Given the description of an element on the screen output the (x, y) to click on. 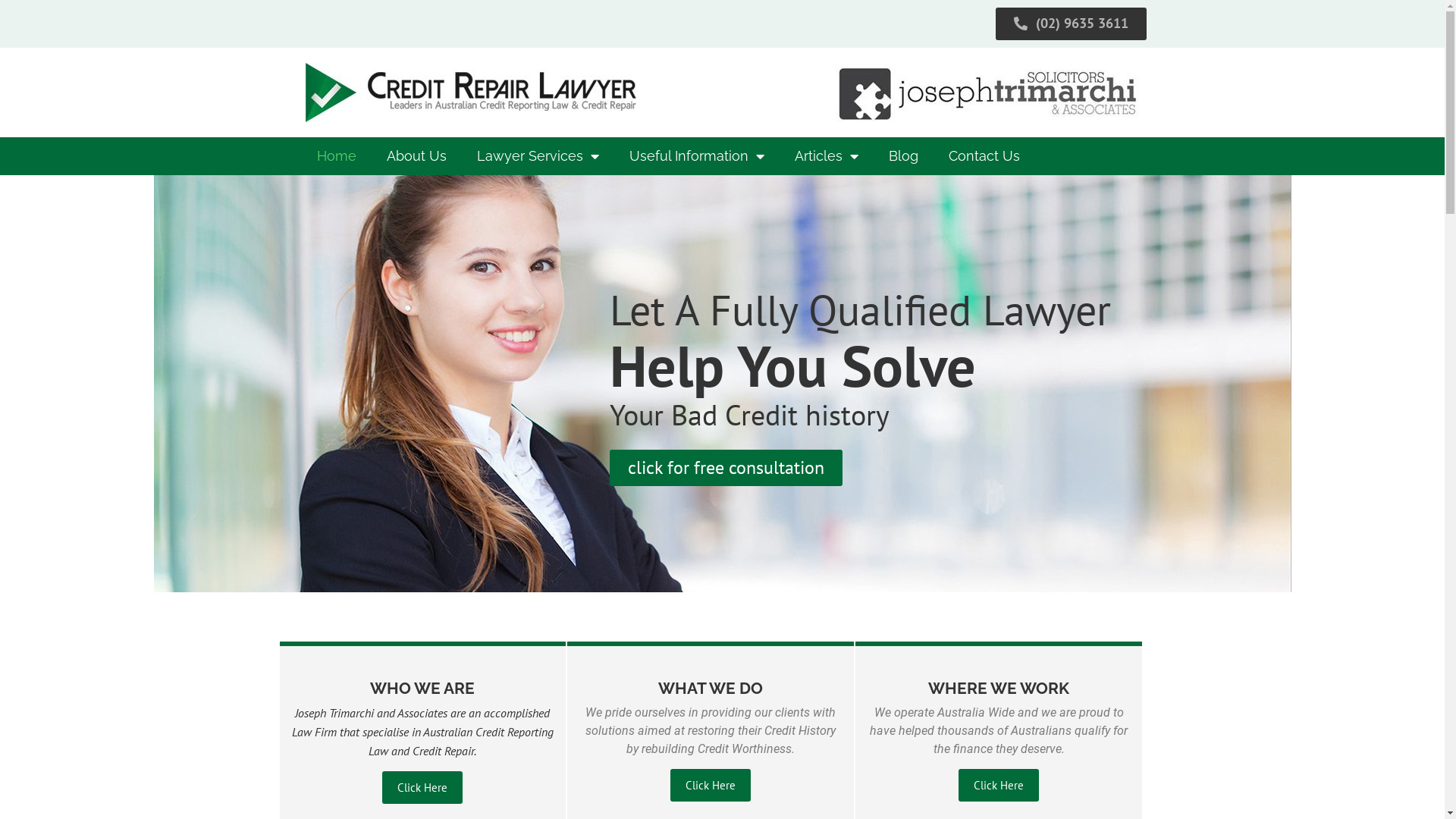
click for free consultation Element type: text (725, 466)
Articles Element type: text (826, 155)
(02) 9635 3611 Element type: text (1070, 23)
Useful Information Element type: text (696, 155)
Lawyer Services Element type: text (537, 155)
Blog Element type: text (903, 155)
Click Here Element type: text (998, 784)
About Us Element type: text (416, 155)
Click Here Element type: text (710, 784)
Click Here Element type: text (422, 787)
Home Element type: text (336, 155)
Contact Us Element type: text (983, 155)
